Given the description of an element on the screen output the (x, y) to click on. 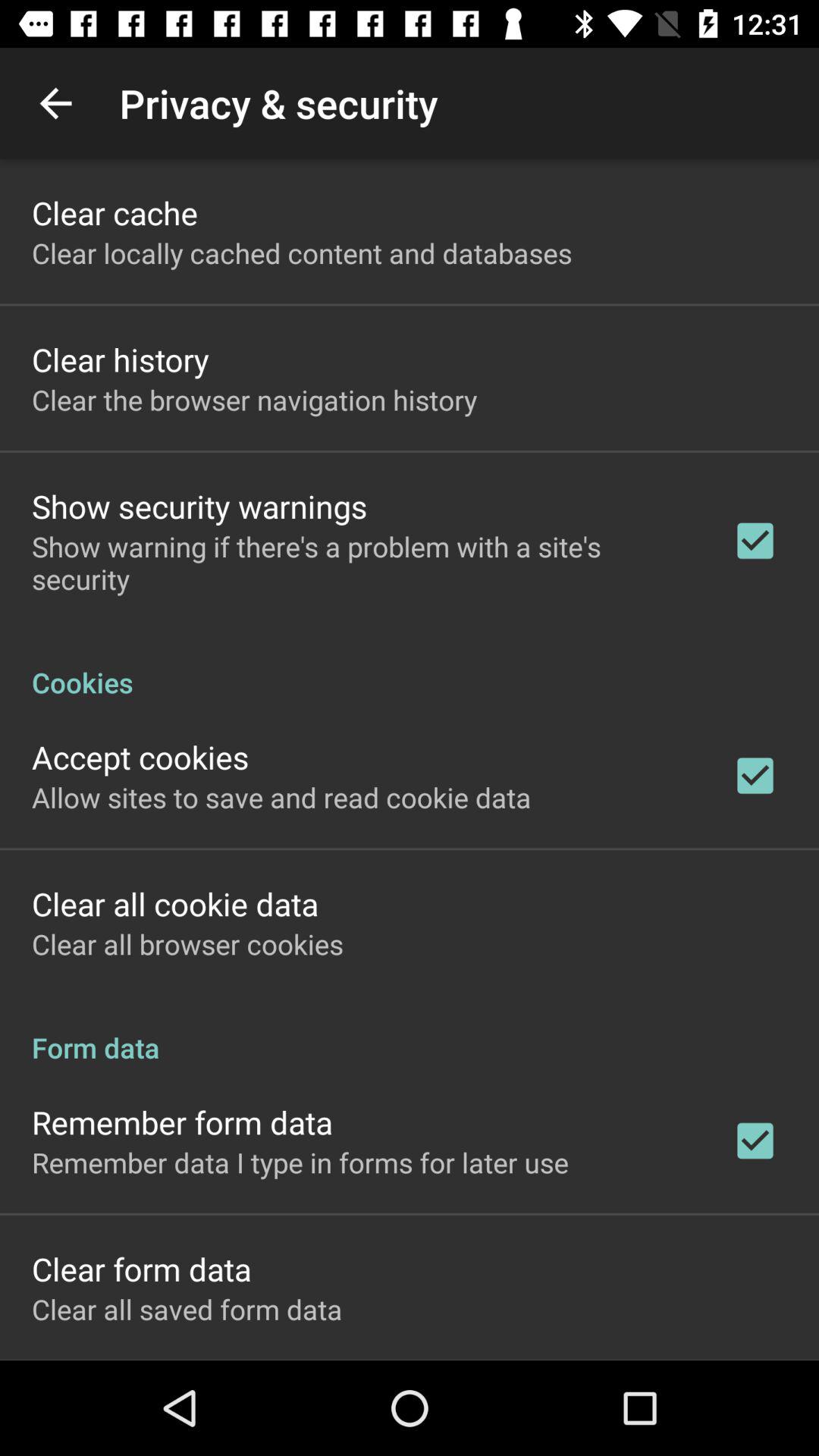
turn off the item above clear locally cached (114, 212)
